Given the description of an element on the screen output the (x, y) to click on. 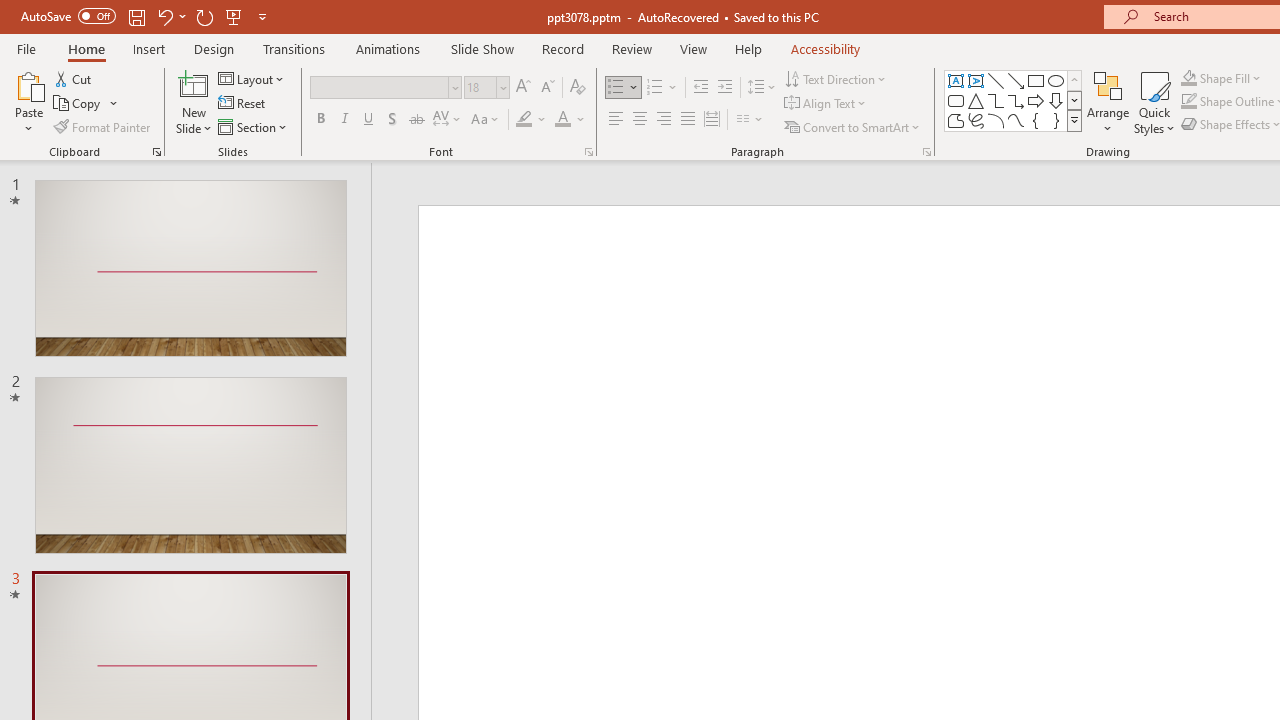
Shape Fill Dark Green, Accent 2 (1188, 78)
